Given the description of an element on the screen output the (x, y) to click on. 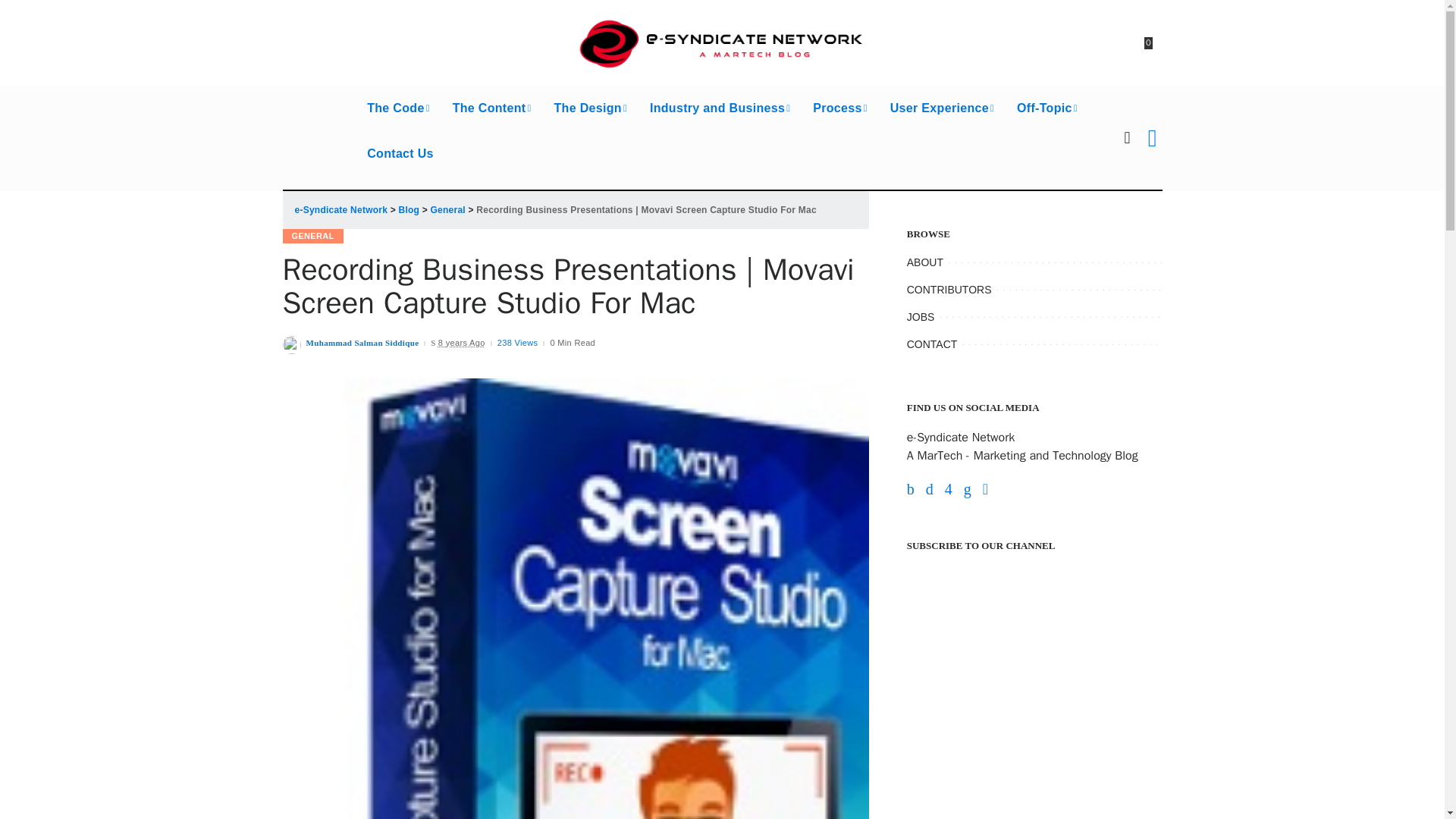
e-Syndicate Network (722, 43)
Go to e-Syndicate Network. (340, 209)
Go to the General Category archives. (447, 209)
Go to Blog. (409, 209)
